Given the description of an element on the screen output the (x, y) to click on. 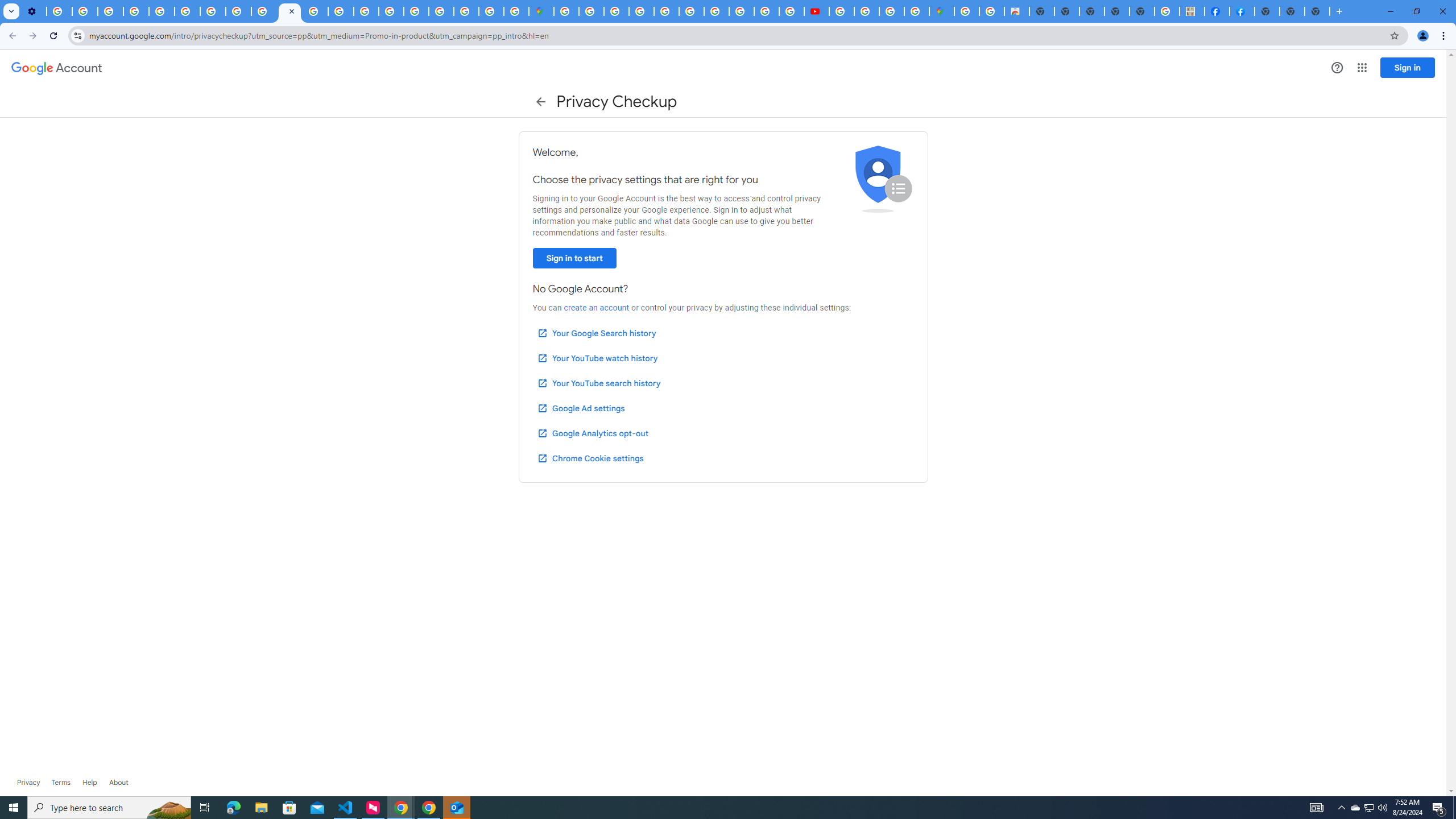
Privacy Help Center - Policies Help (766, 11)
Chrome Web Store - Shopping (1016, 11)
Google Maps (941, 11)
YouTube (186, 11)
